Given the description of an element on the screen output the (x, y) to click on. 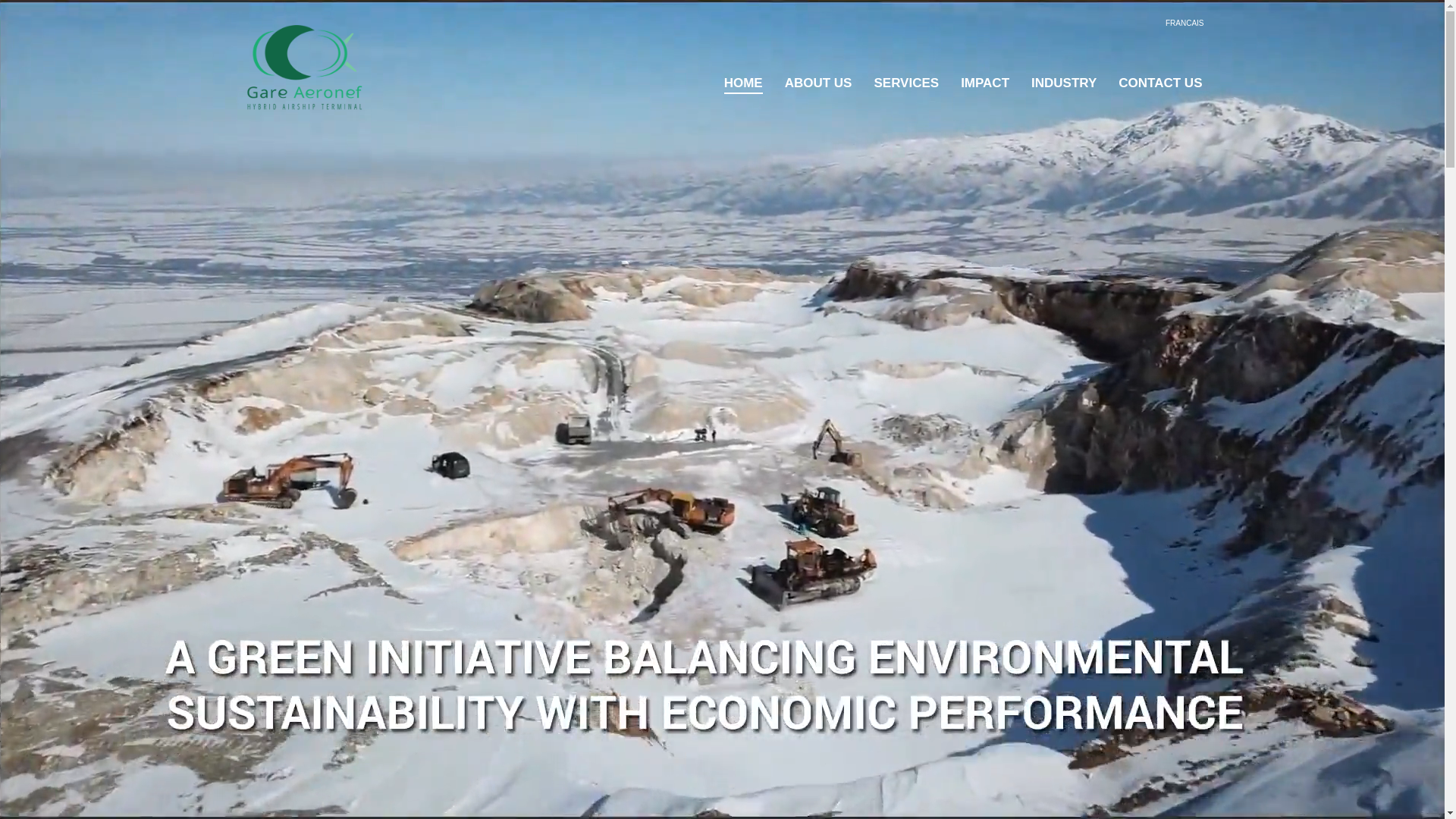
FRANCAIS Element type: text (1184, 22)
CONTACT US Element type: text (1160, 83)
INDUSTRY Element type: text (1063, 83)
IMPACT Element type: text (984, 83)
HOME Element type: text (743, 83)
SERVICES Element type: text (905, 83)
ABOUT US Element type: text (818, 83)
